Given the description of an element on the screen output the (x, y) to click on. 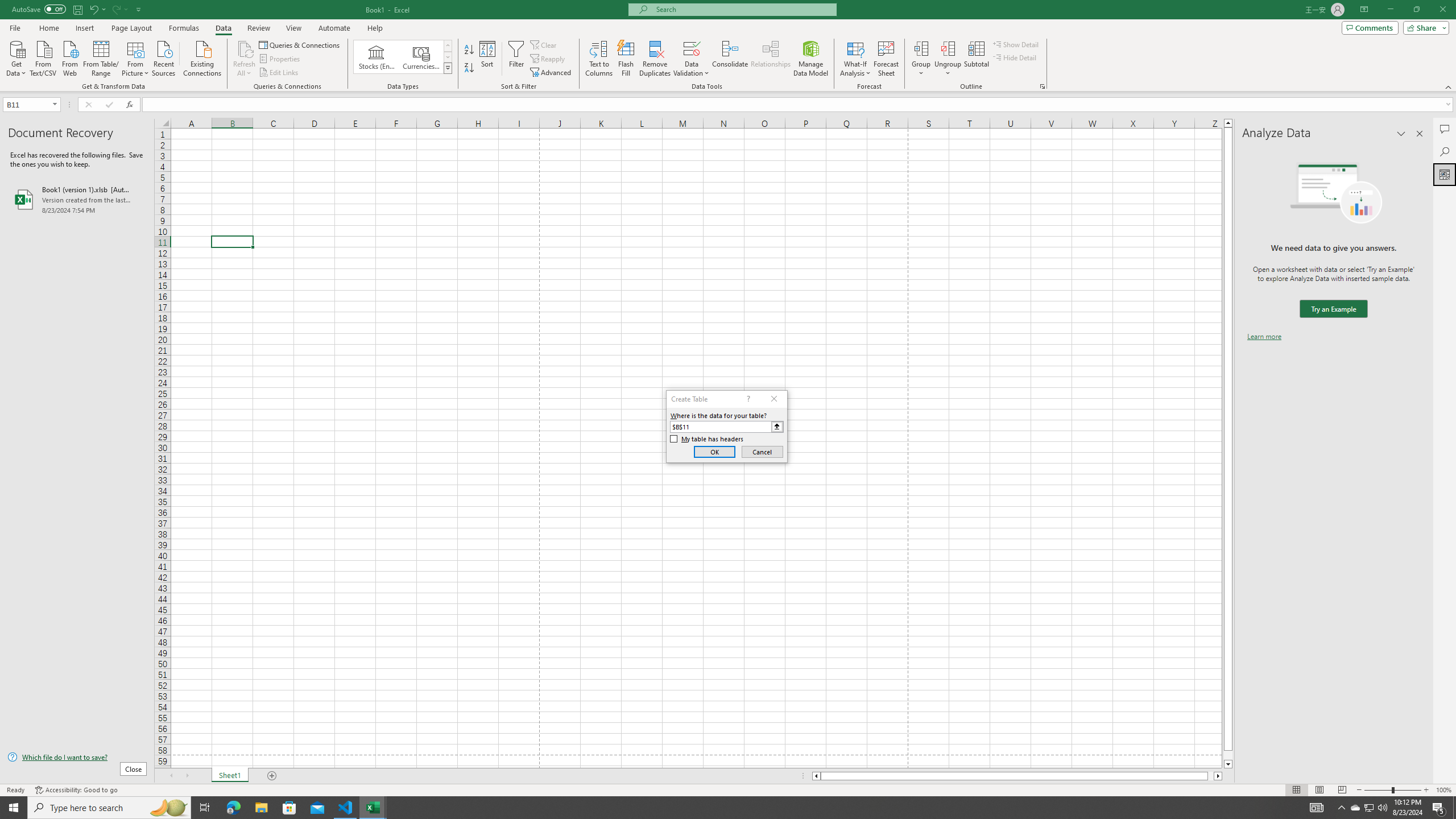
Customize Quick Access Toolbar (139, 9)
Page right (1211, 775)
Refresh All (244, 48)
Ungroup... (947, 58)
Data Validation... (691, 48)
Column left (815, 775)
Data Types (448, 67)
Insert (83, 28)
From Text/CSV (43, 57)
Task Pane Options (1400, 133)
Automate (334, 28)
Column right (1218, 775)
Accessibility Checker Accessibility: Good to go (76, 790)
Book1 (version 1).xlsb  [AutoRecovered] (77, 199)
File Tab (15, 27)
